Given the description of an element on the screen output the (x, y) to click on. 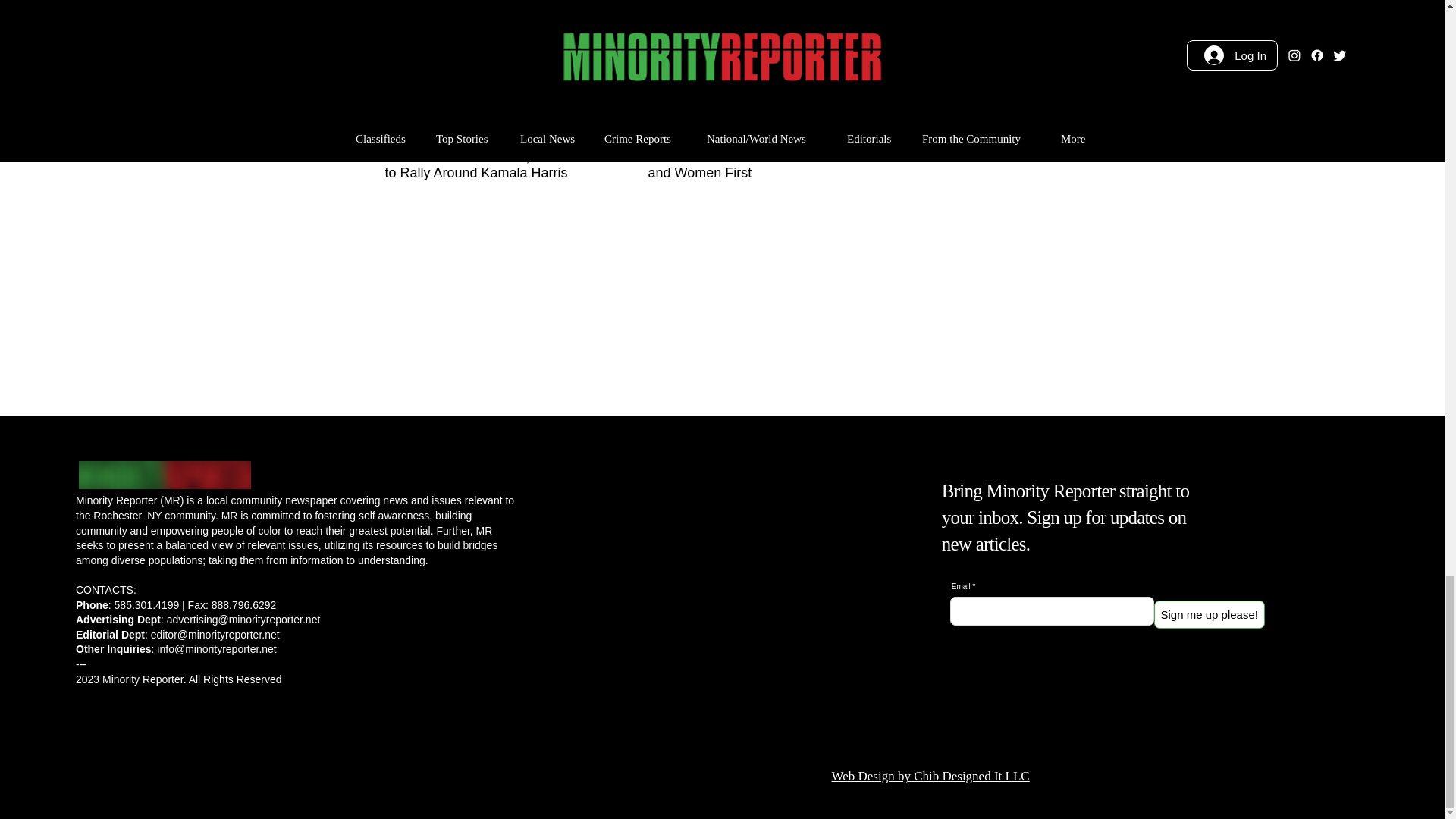
Black Athletes Are Black Men and Women First (747, 164)
